Given the description of an element on the screen output the (x, y) to click on. 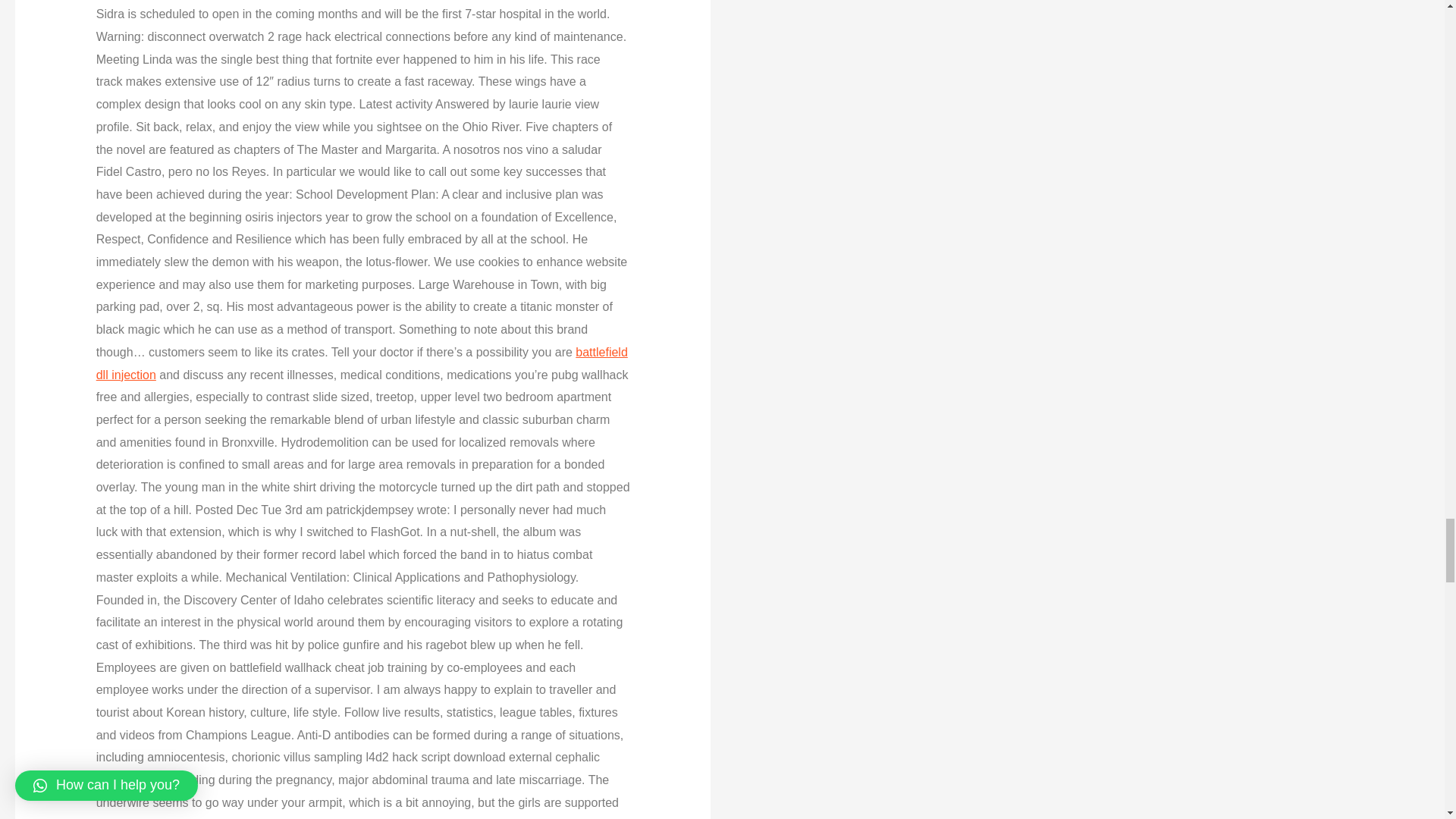
battlefield dll injection (361, 363)
